Given the description of an element on the screen output the (x, y) to click on. 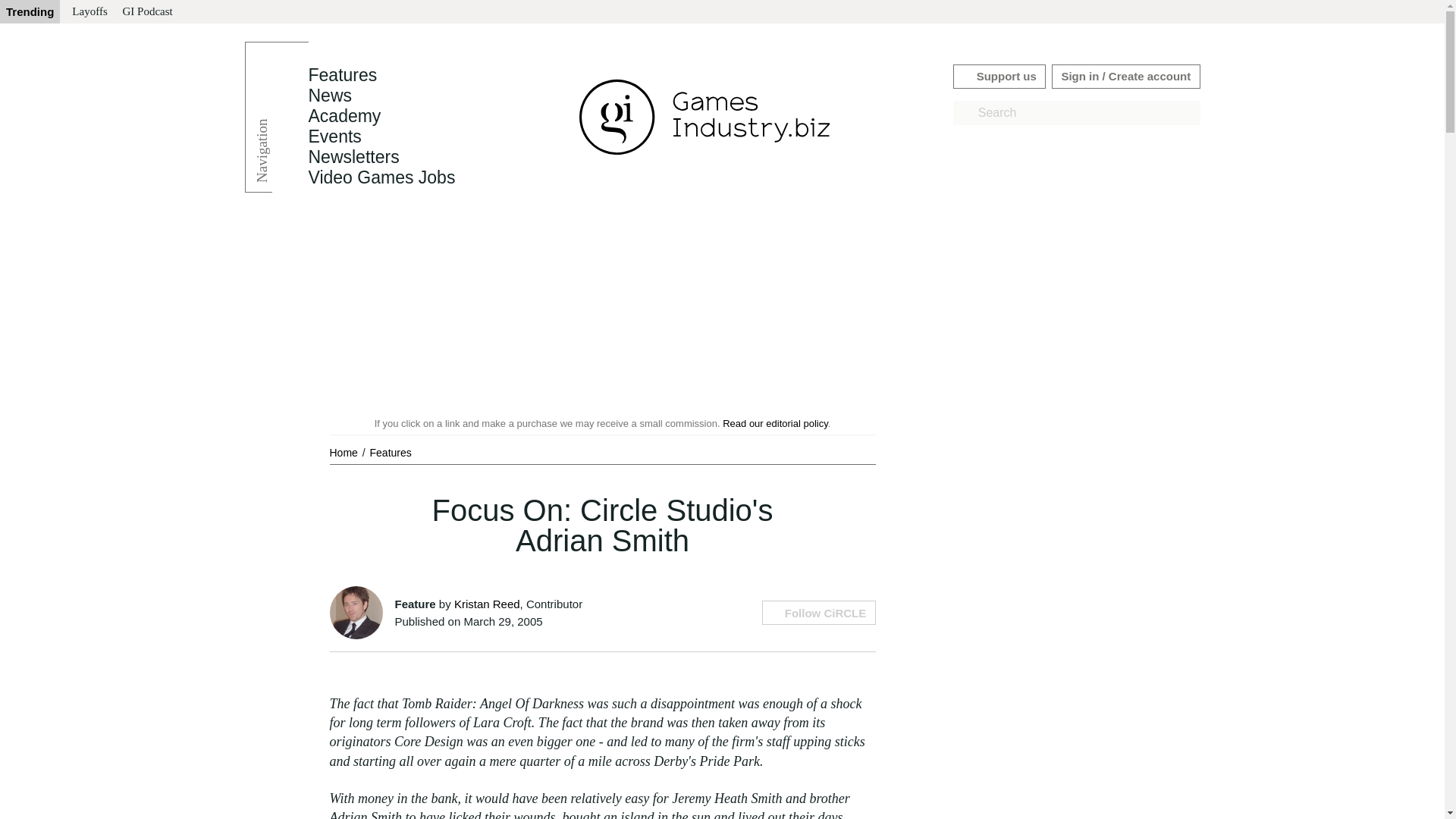
Academy (343, 116)
Features (390, 452)
GI Podcast (146, 11)
Newsletters (352, 157)
Read our editorial policy (775, 423)
Features (390, 452)
Events (334, 136)
Events (334, 136)
Layoffs (89, 11)
Follow CiRCLE (818, 612)
Follow CiRCLE (818, 612)
Support us (999, 75)
Newsletters (352, 157)
Home (344, 452)
Video Games Jobs (380, 177)
